Given the description of an element on the screen output the (x, y) to click on. 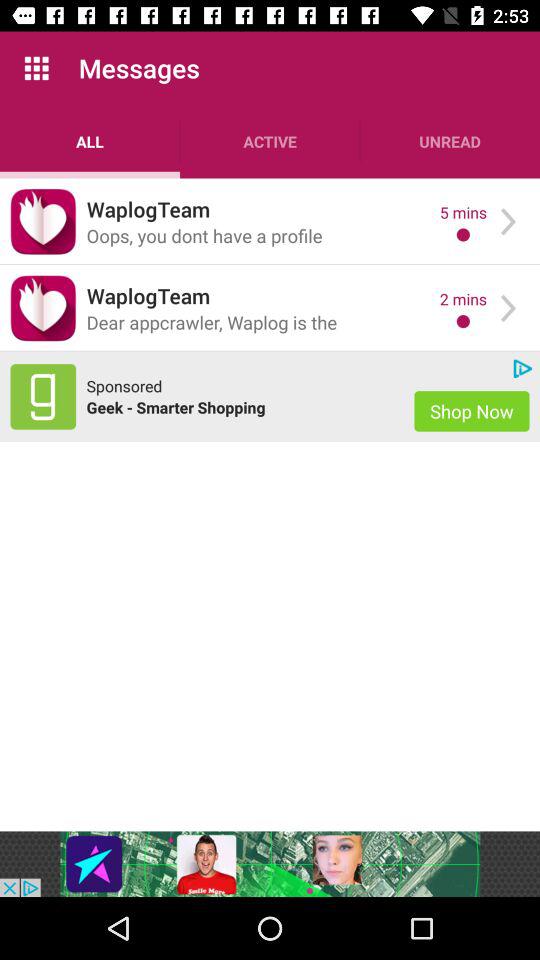
banner advertisement (270, 864)
